Given the description of an element on the screen output the (x, y) to click on. 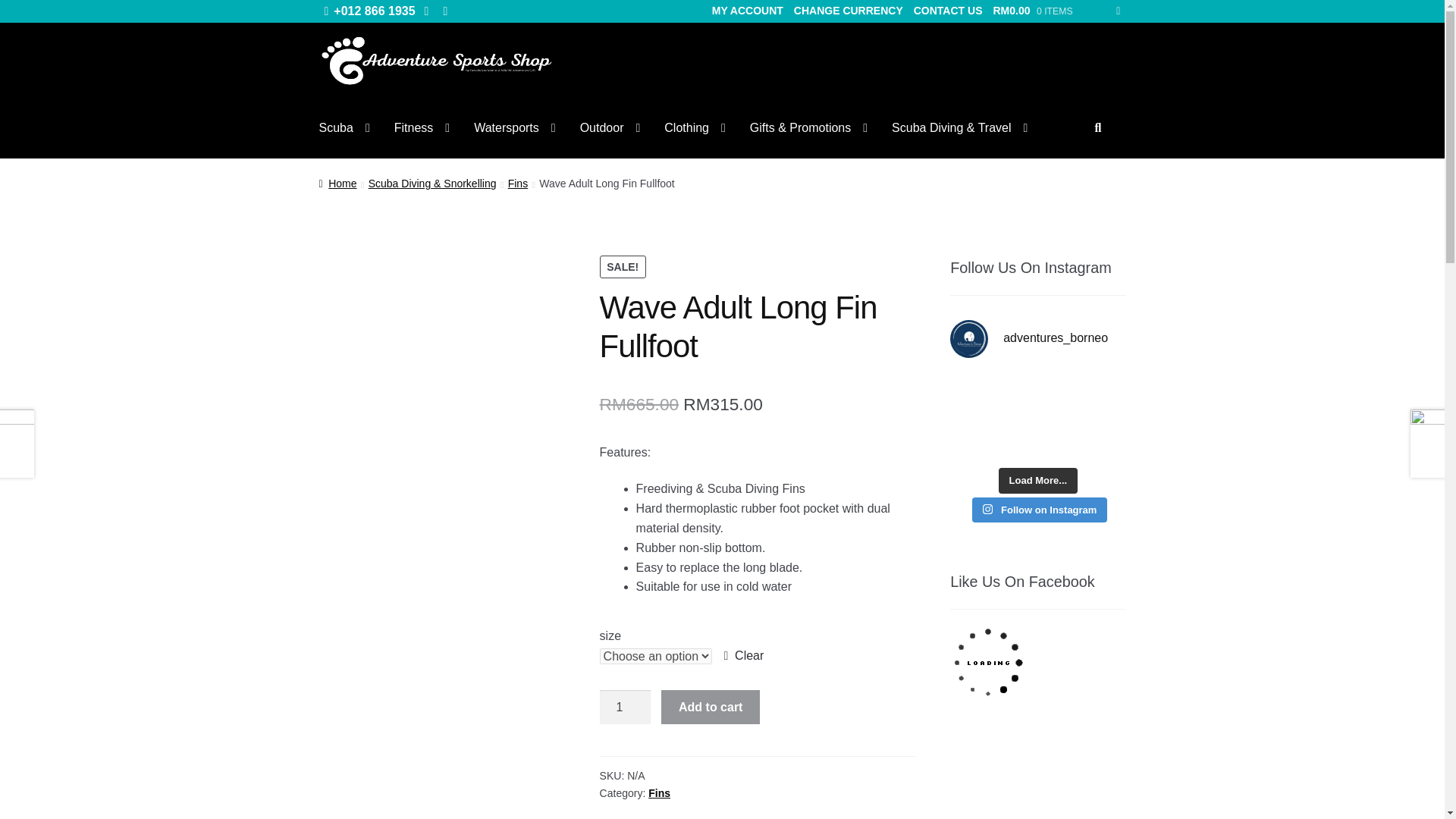
View your shopping cart (1056, 10)
1 (624, 707)
CONTACT US (948, 10)
CHANGE CURRENCY (848, 10)
RM0.00 0 ITEMS (1056, 10)
Scuba (344, 128)
MY ACCOUNT (747, 10)
